Given the description of an element on the screen output the (x, y) to click on. 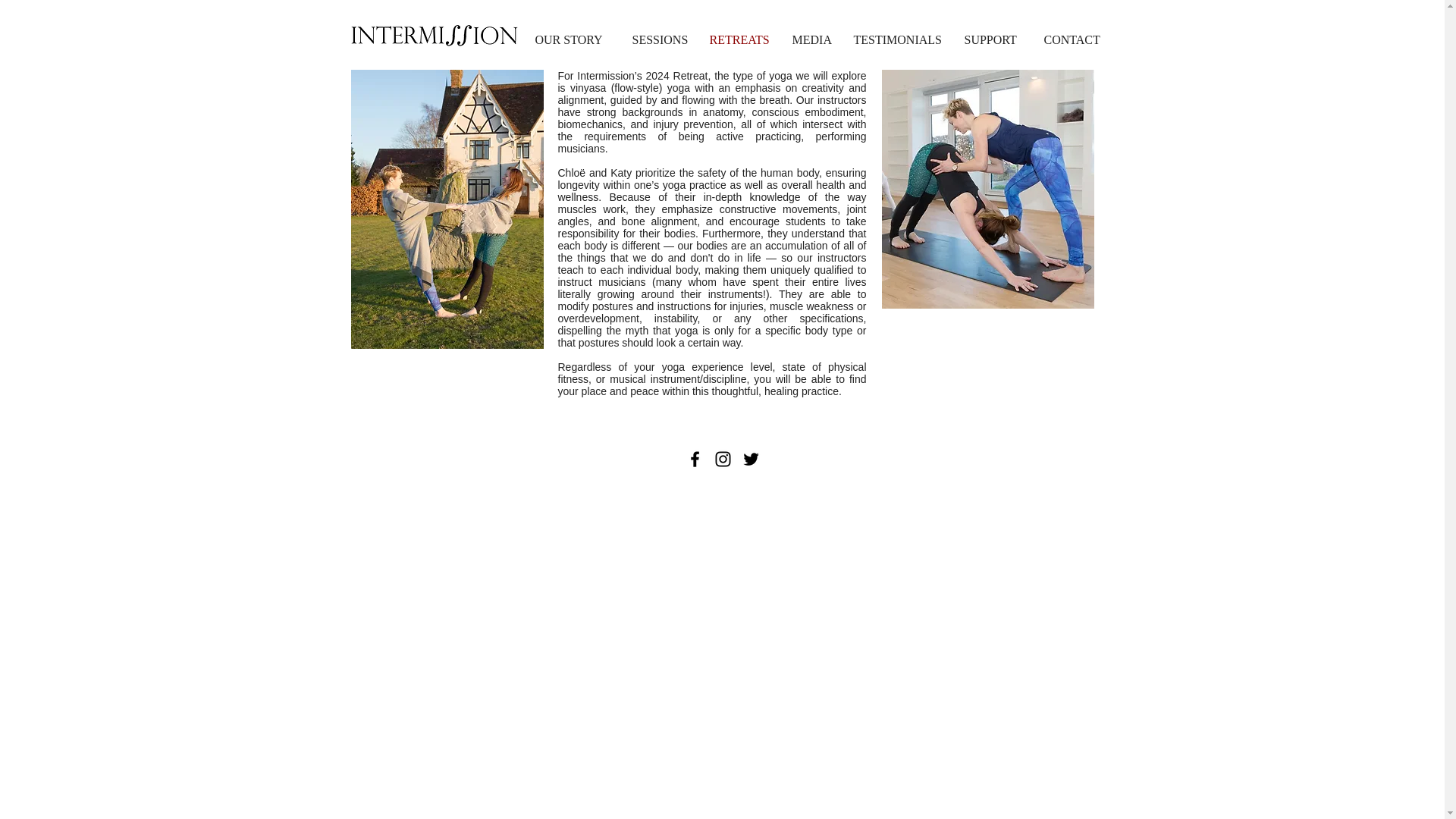
SESSIONS (658, 39)
CONTACT (1075, 39)
OUR STORY (571, 39)
MEDIA (811, 39)
SUPPORT (992, 39)
TESTIMONIALS (896, 39)
RETREATS (738, 39)
